Given the description of an element on the screen output the (x, y) to click on. 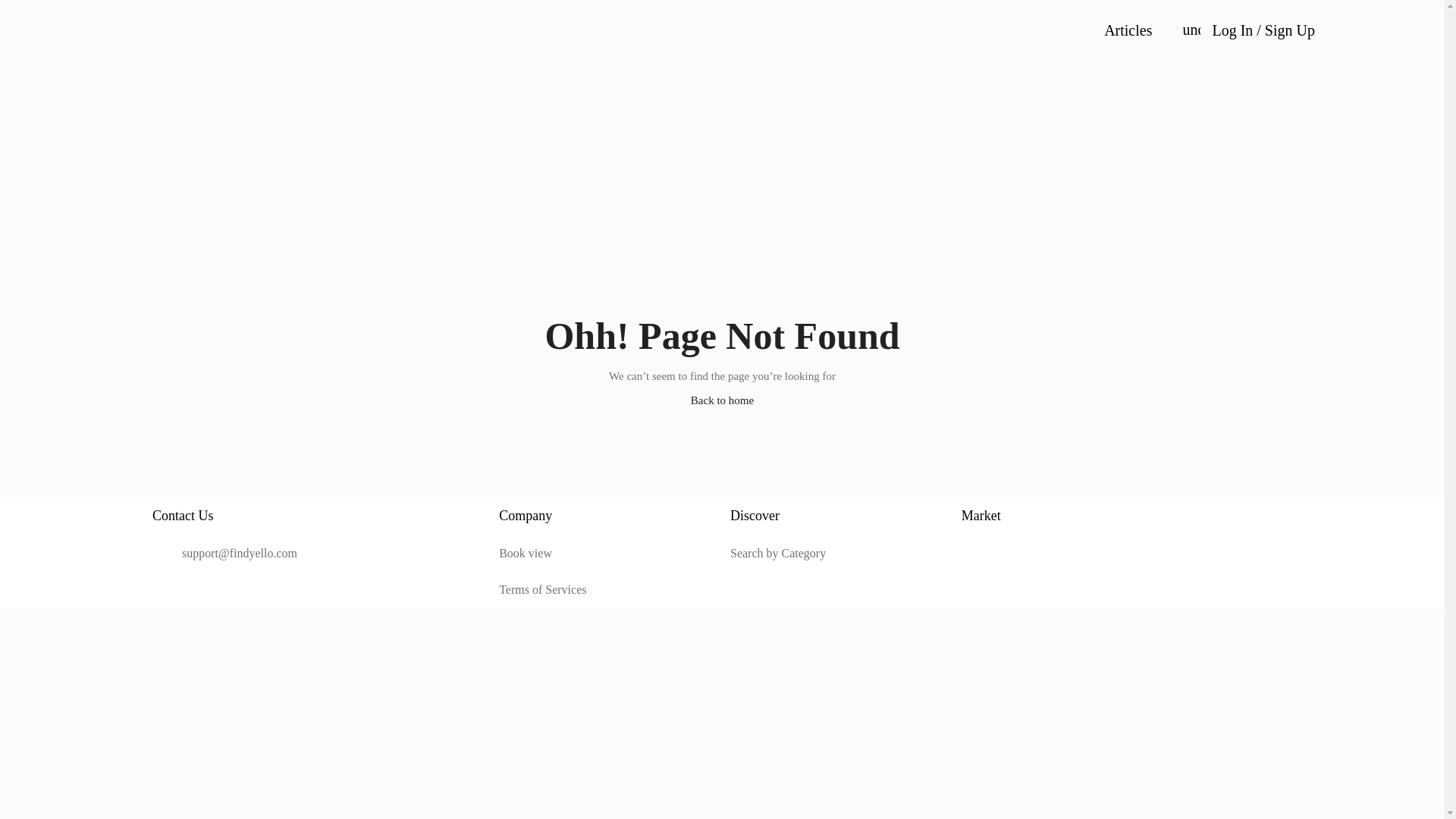
Book view (606, 553)
Back to home (722, 400)
Terms of Services (606, 590)
